Given the description of an element on the screen output the (x, y) to click on. 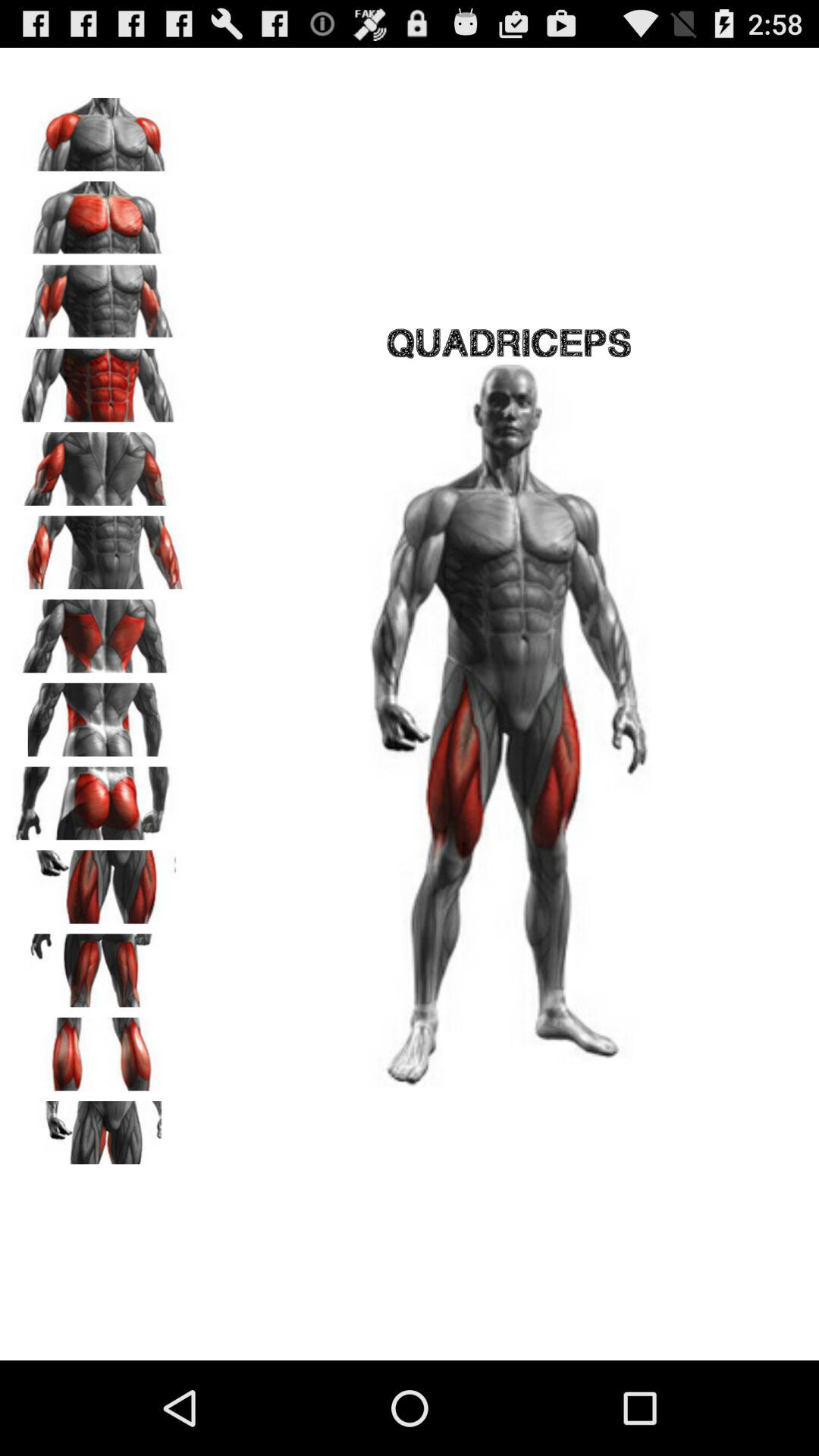
select the body part on image (99, 630)
